Given the description of an element on the screen output the (x, y) to click on. 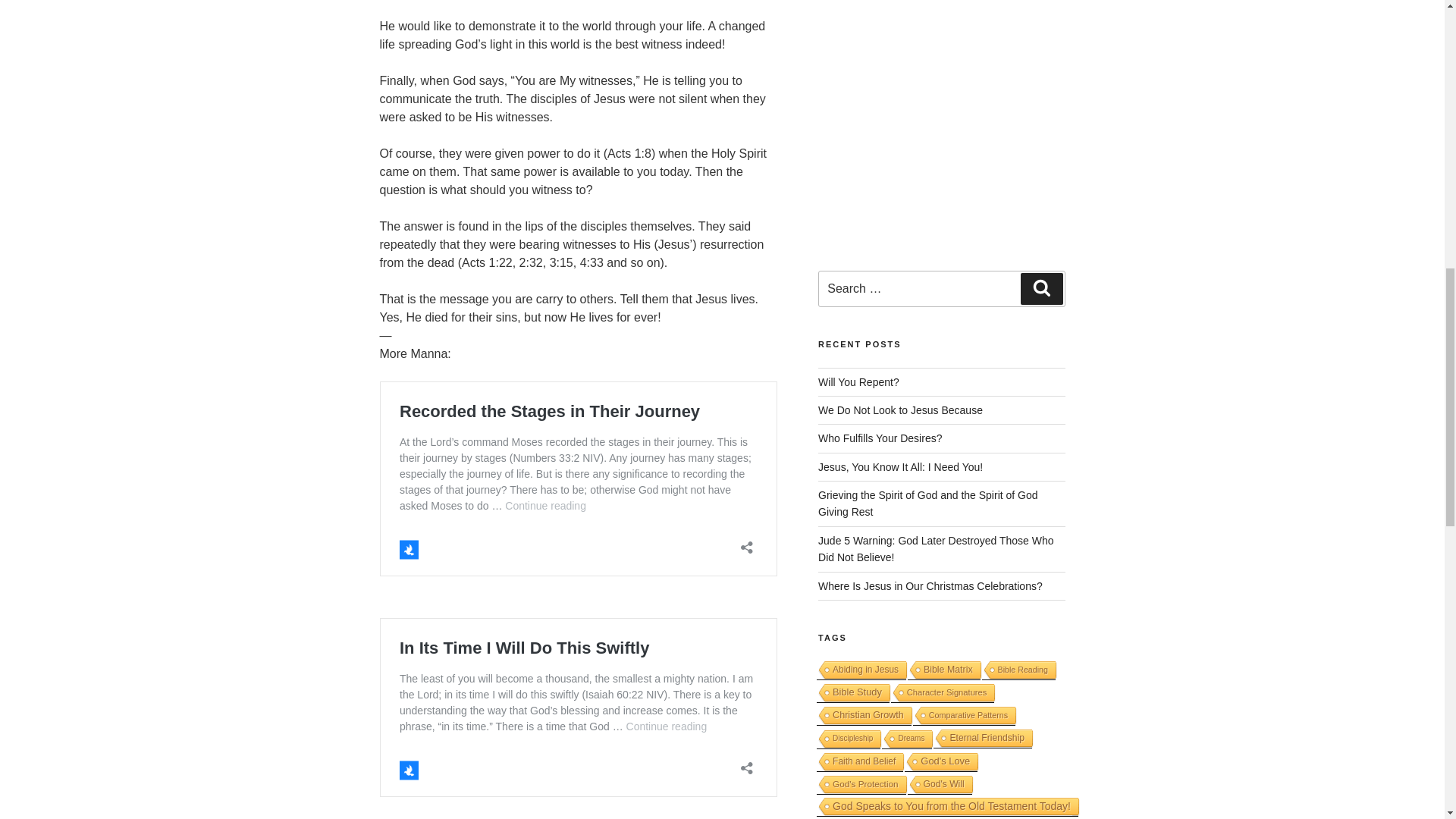
Abiding in Jesus (860, 670)
Jesus, You Know It All: I Need You! (900, 467)
Who Fulfills Your Desires? (880, 438)
Character Signatures (942, 692)
Grieving the Spirit of God and the Spirit of God Giving Rest (928, 502)
Discipleship (848, 739)
Bible Reading (1018, 670)
Christian Growth (863, 715)
Comparative Patterns (963, 715)
We Do Not Look to Jesus Because (900, 410)
Bible Matrix (943, 670)
Where Is Jesus in Our Christmas Celebrations? (930, 585)
Bible Study (852, 692)
Dreams (906, 739)
Search (1041, 288)
